Given the description of an element on the screen output the (x, y) to click on. 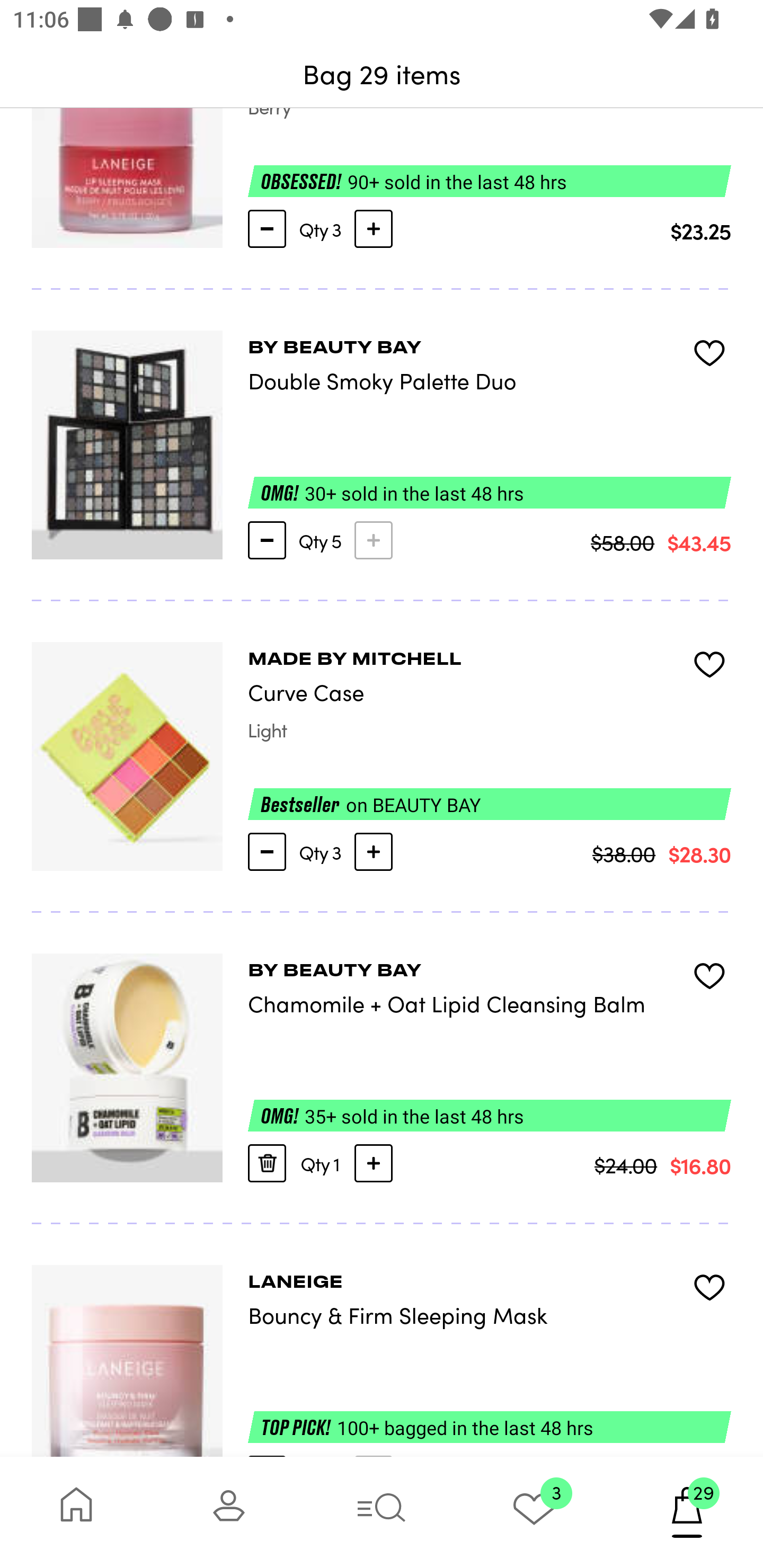
3 (533, 1512)
29 (686, 1512)
